Given the description of an element on the screen output the (x, y) to click on. 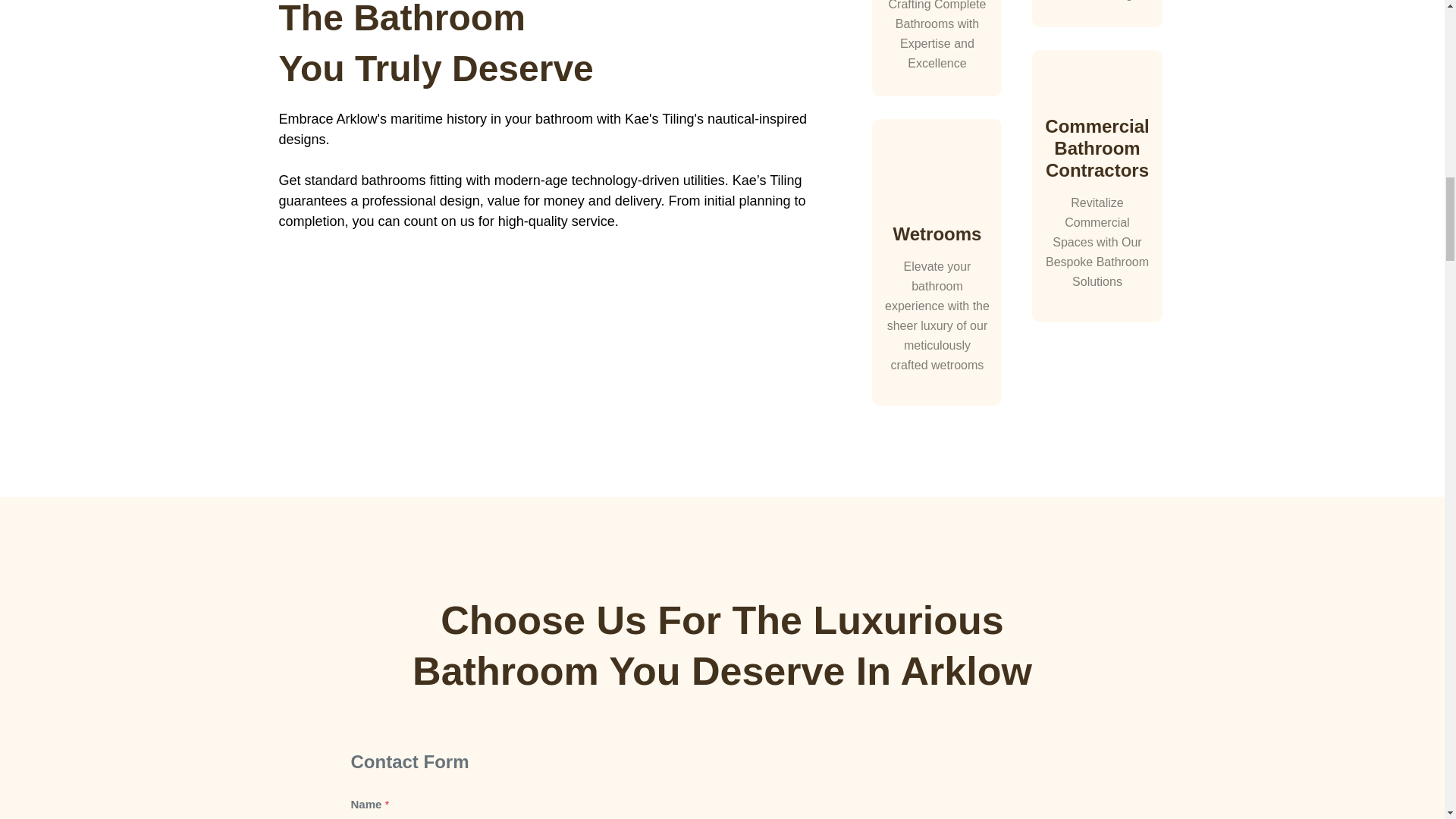
Bathroom Renovations 5 (936, 174)
Bathroom Renovations 7 (1097, 88)
